Given the description of an element on the screen output the (x, y) to click on. 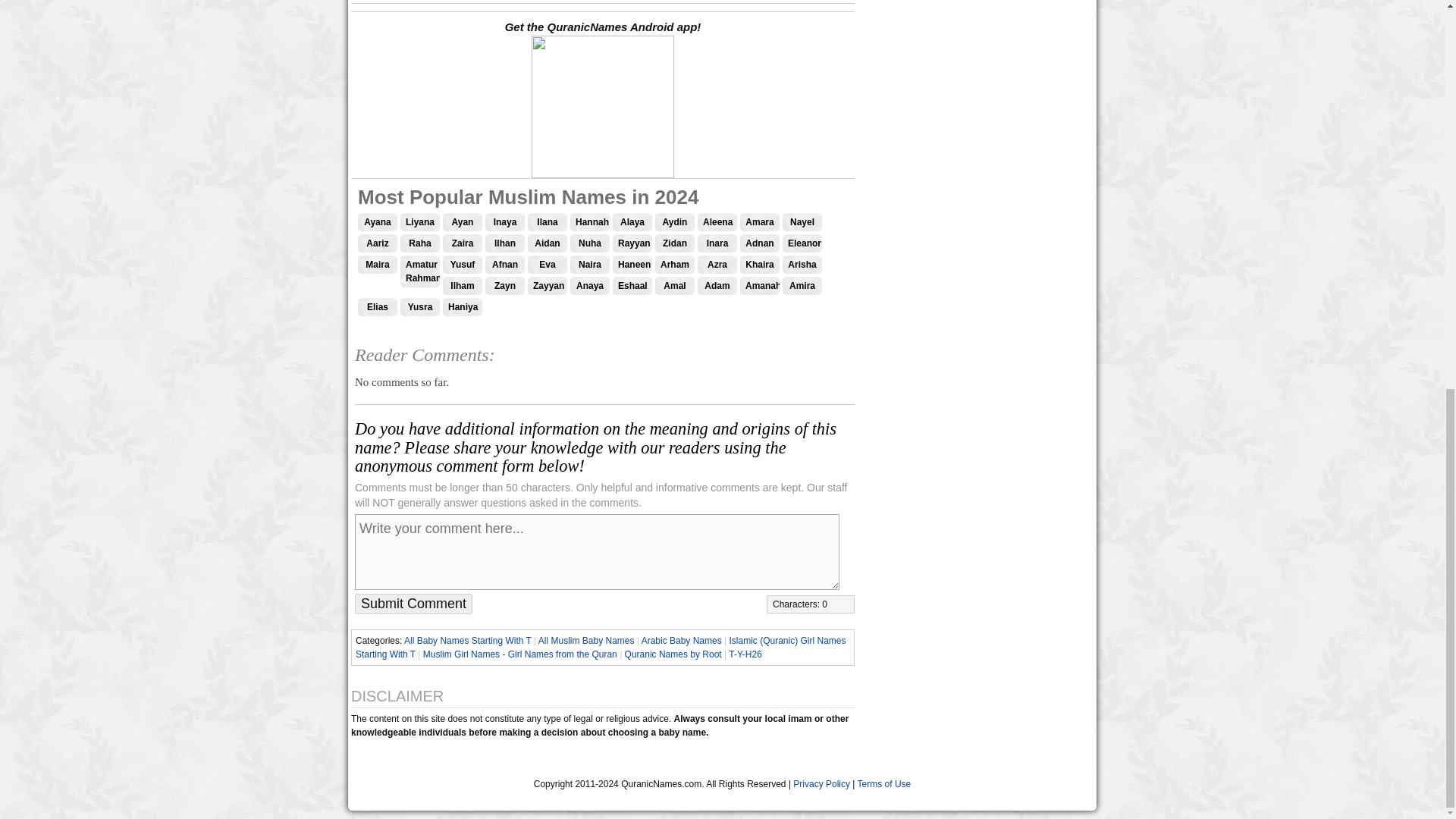
Submit Comment (413, 603)
